Given the description of an element on the screen output the (x, y) to click on. 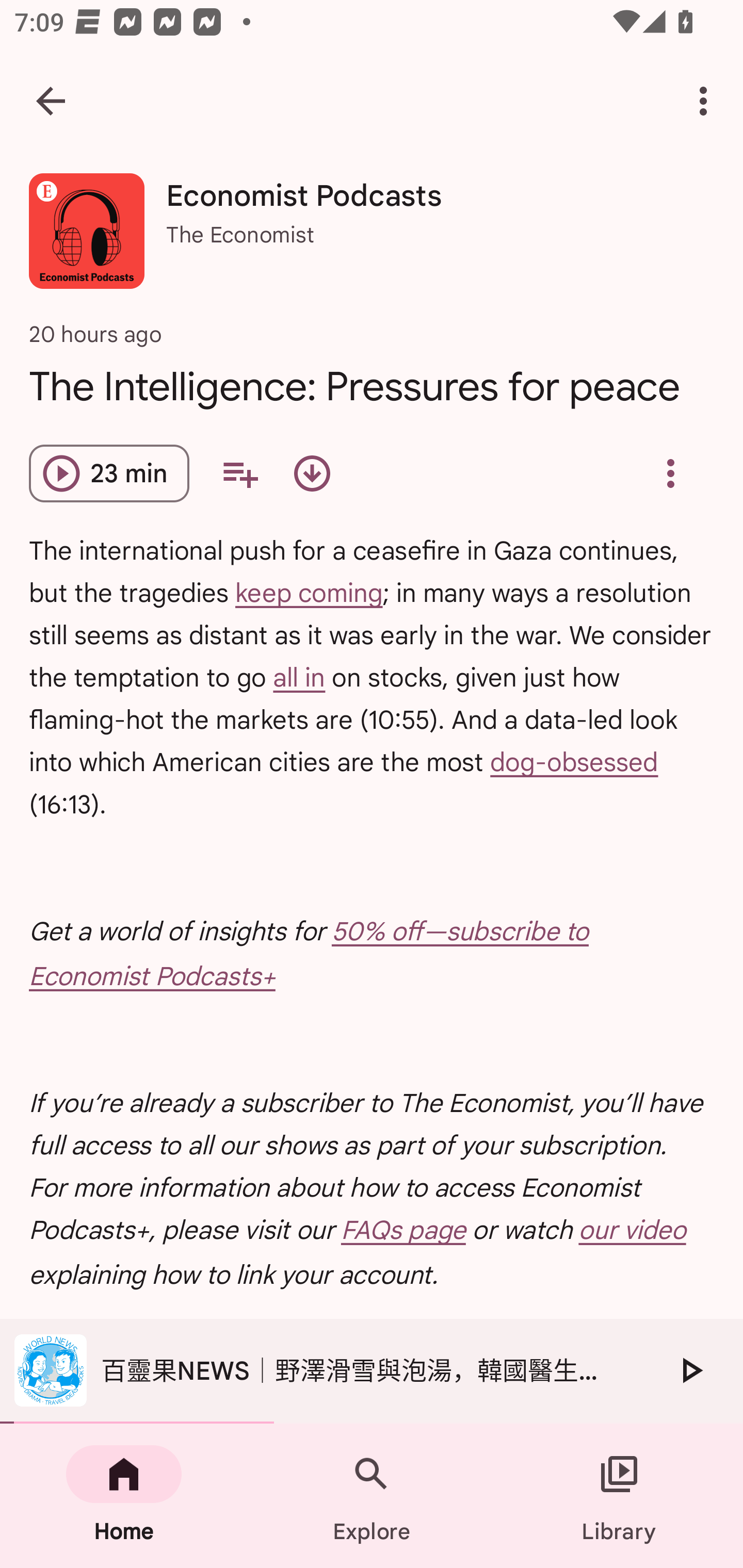
Navigate up (50, 101)
More options (706, 101)
Add to your queue (239, 473)
Download episode (312, 473)
Overflow menu (670, 473)
Play (690, 1370)
Explore (371, 1495)
Library (619, 1495)
